Given the description of an element on the screen output the (x, y) to click on. 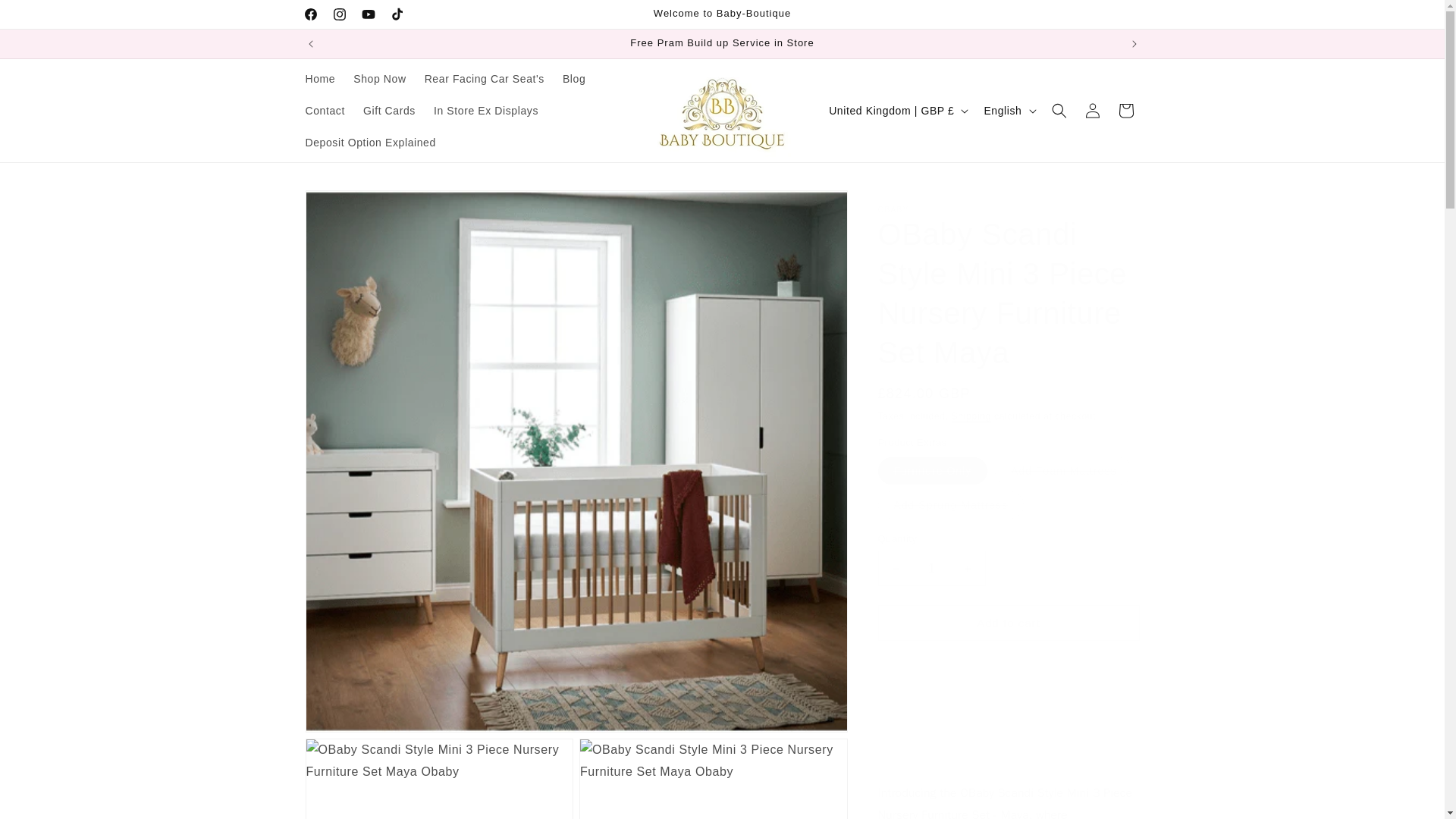
Gift Cards (389, 110)
Home (319, 79)
Blog (573, 79)
Facebook (309, 14)
English (1008, 110)
TikTok (395, 14)
Open media 3 in modal (713, 778)
